Given the description of an element on the screen output the (x, y) to click on. 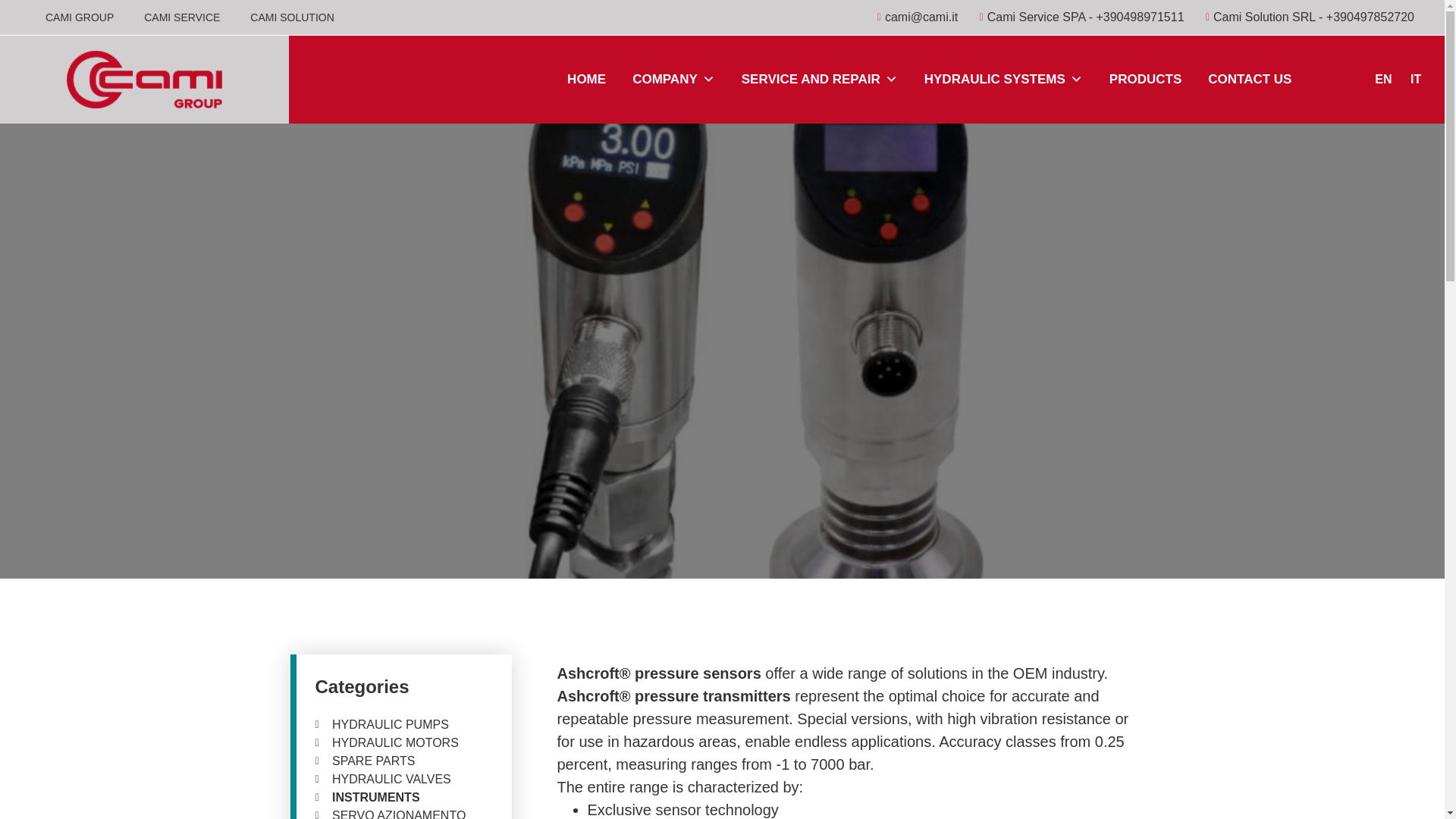
CAMI GROUP (79, 17)
COMPANY (672, 79)
CAMI SOLUTION (291, 17)
HYDRAULIC SYSTEMS (1003, 79)
SERVICE AND REPAIR (819, 79)
HOME (586, 79)
CAMI SERVICE (181, 17)
